Given the description of an element on the screen output the (x, y) to click on. 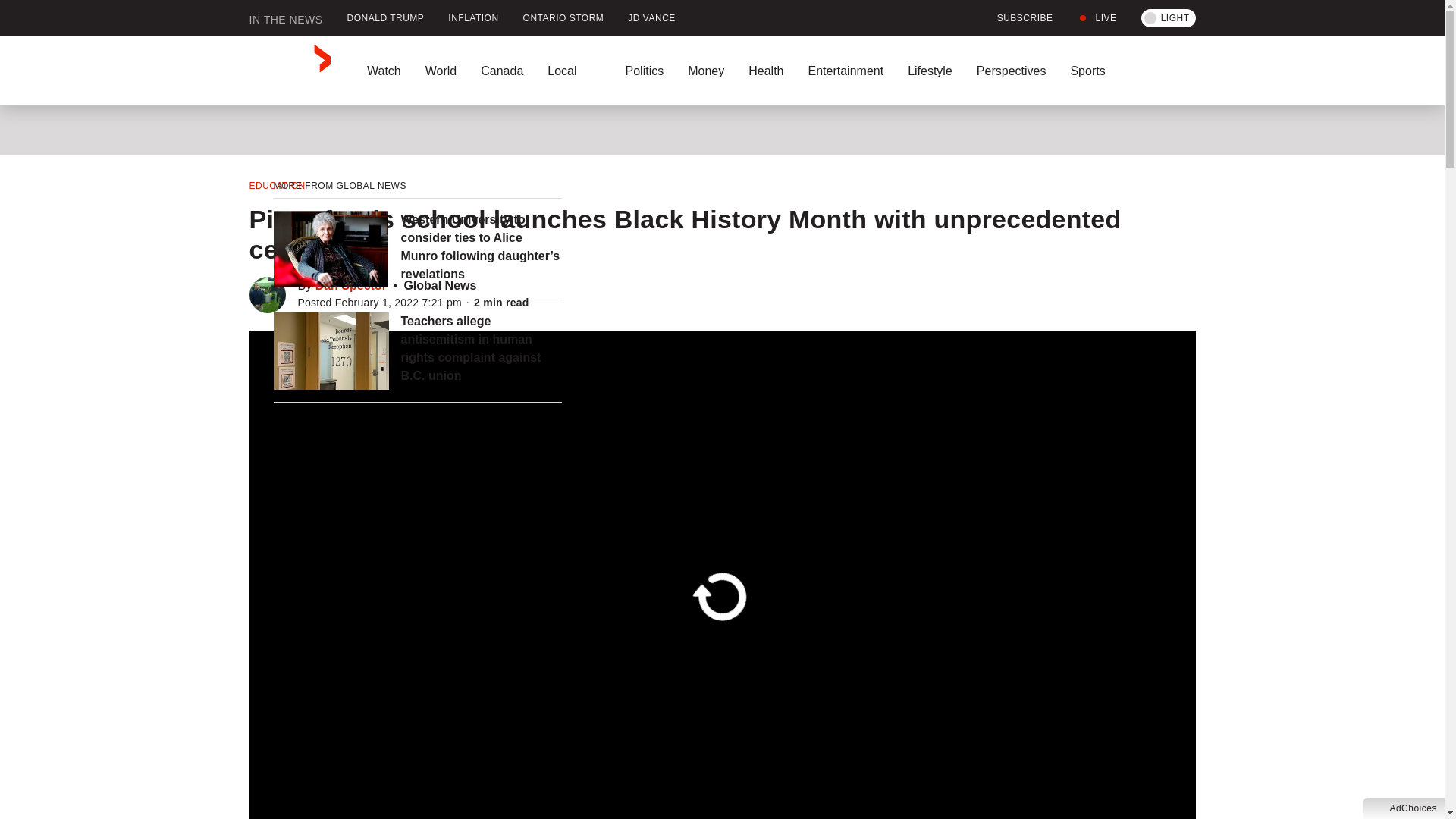
Politics (643, 70)
GlobalNews home (289, 70)
Posts by Dan Spector (351, 285)
SUBSCRIBE (1015, 18)
LIVE (1096, 18)
Entertainment (844, 70)
Watch (384, 70)
Health (765, 70)
Search Menu (1191, 70)
Sports (1087, 70)
World (440, 70)
Canada (501, 70)
Full Menu (1161, 70)
